Given the description of an element on the screen output the (x, y) to click on. 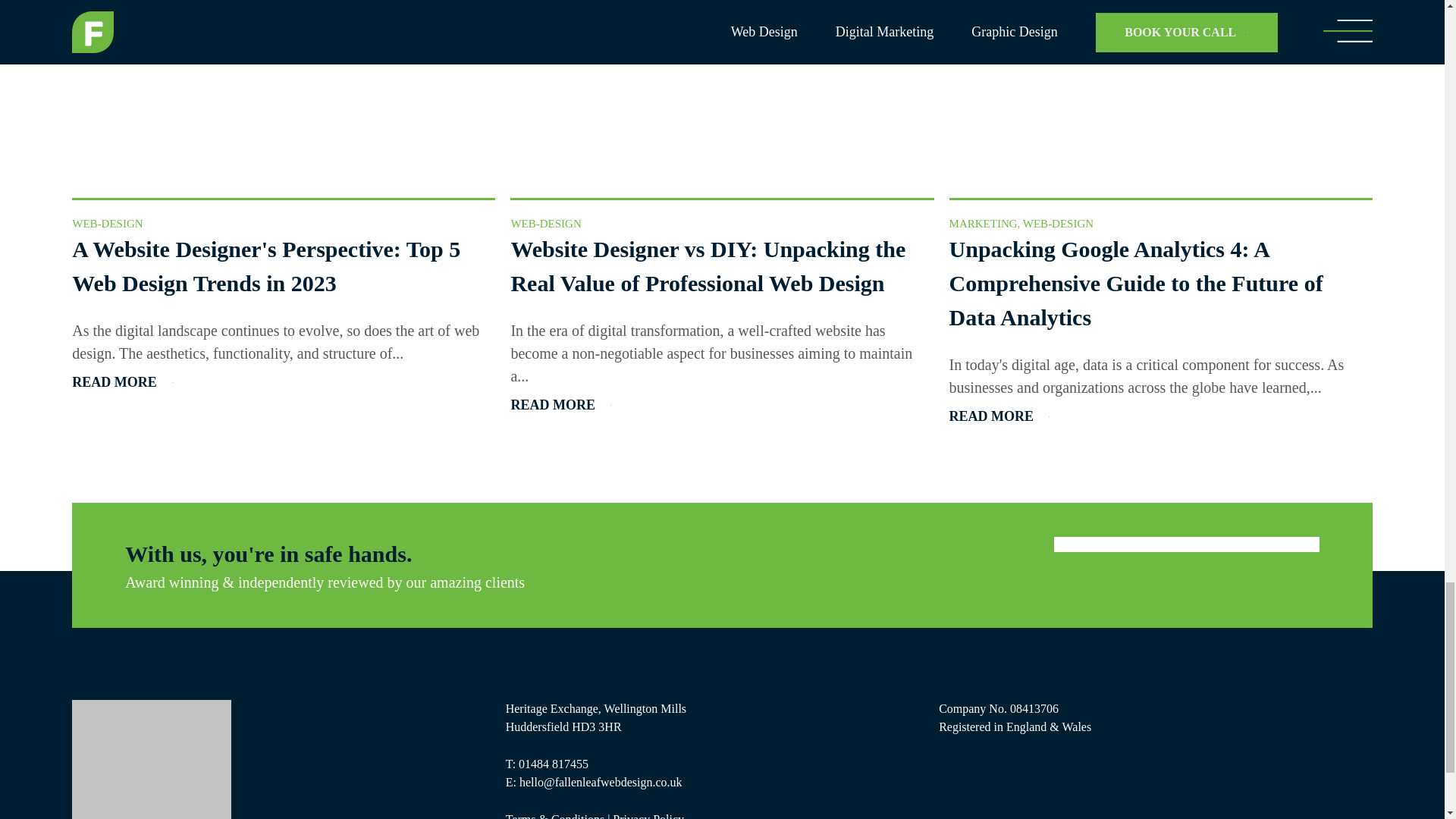
READ MORE (122, 382)
Privacy Policy (648, 816)
READ MORE (999, 416)
01484 817455 (553, 763)
READ MORE (561, 404)
